Given the description of an element on the screen output the (x, y) to click on. 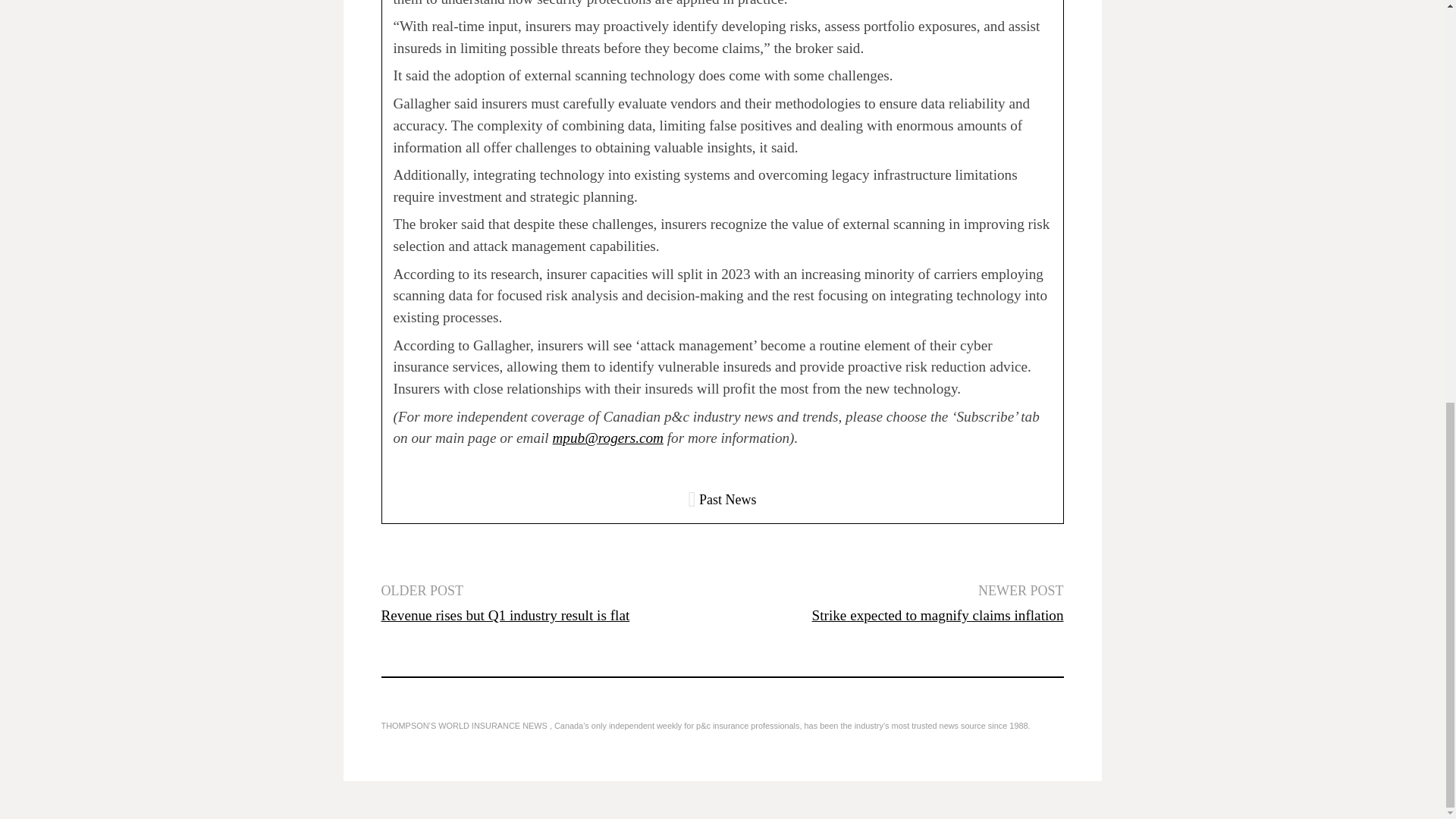
Strike expected to magnify claims inflation (938, 615)
Past News (727, 499)
Revenue rises but Q1 industry result is flat (504, 615)
